Given the description of an element on the screen output the (x, y) to click on. 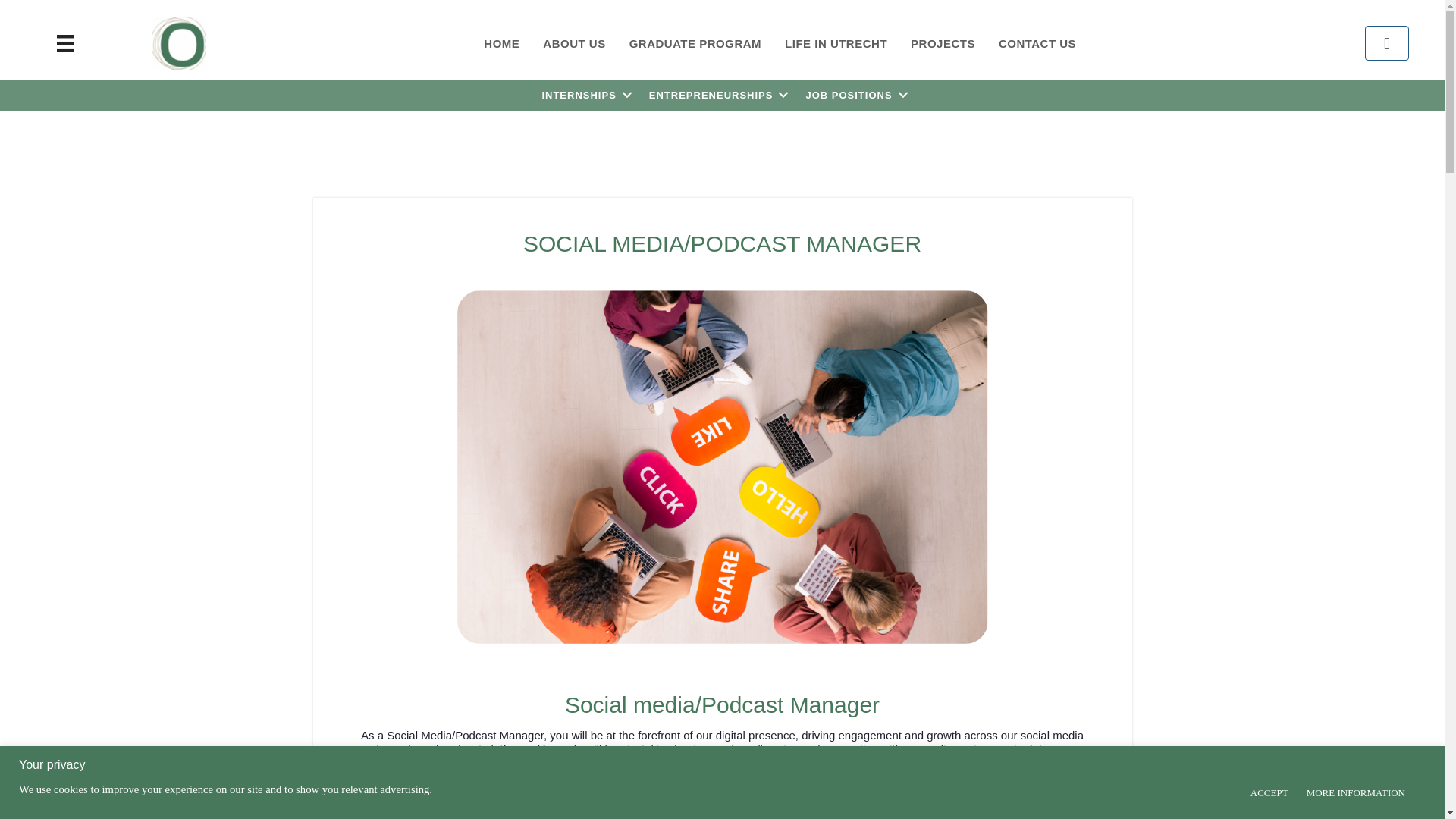
ABOUT US (573, 43)
cropped-ofoundationlogo.png (178, 42)
LIFE IN UTRECHT (835, 43)
GRADUATE PROGRAM (695, 43)
CONTACT US (1037, 43)
PROJECTS (943, 43)
